Given the description of an element on the screen output the (x, y) to click on. 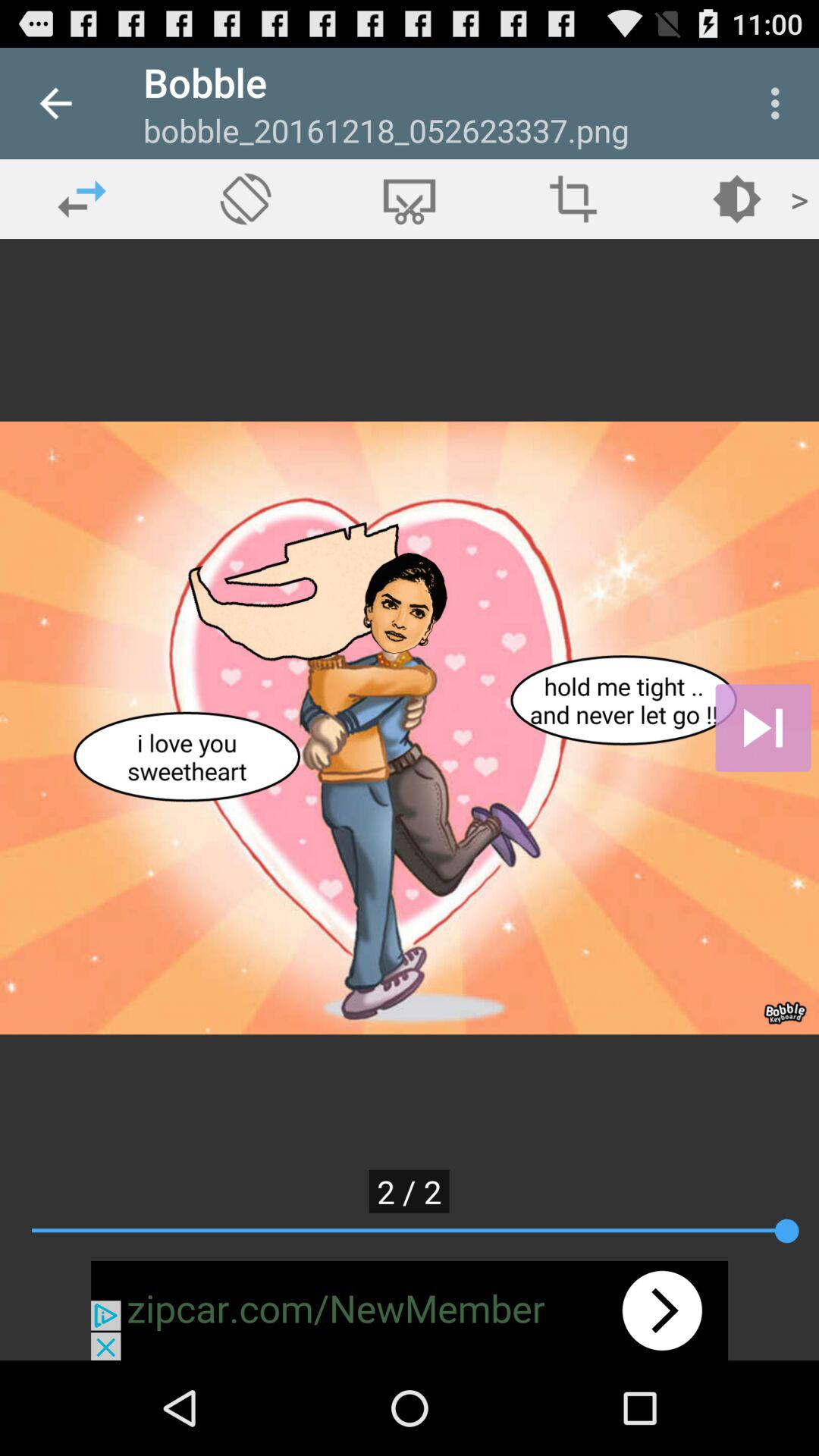
advertisements image (409, 1310)
